Given the description of an element on the screen output the (x, y) to click on. 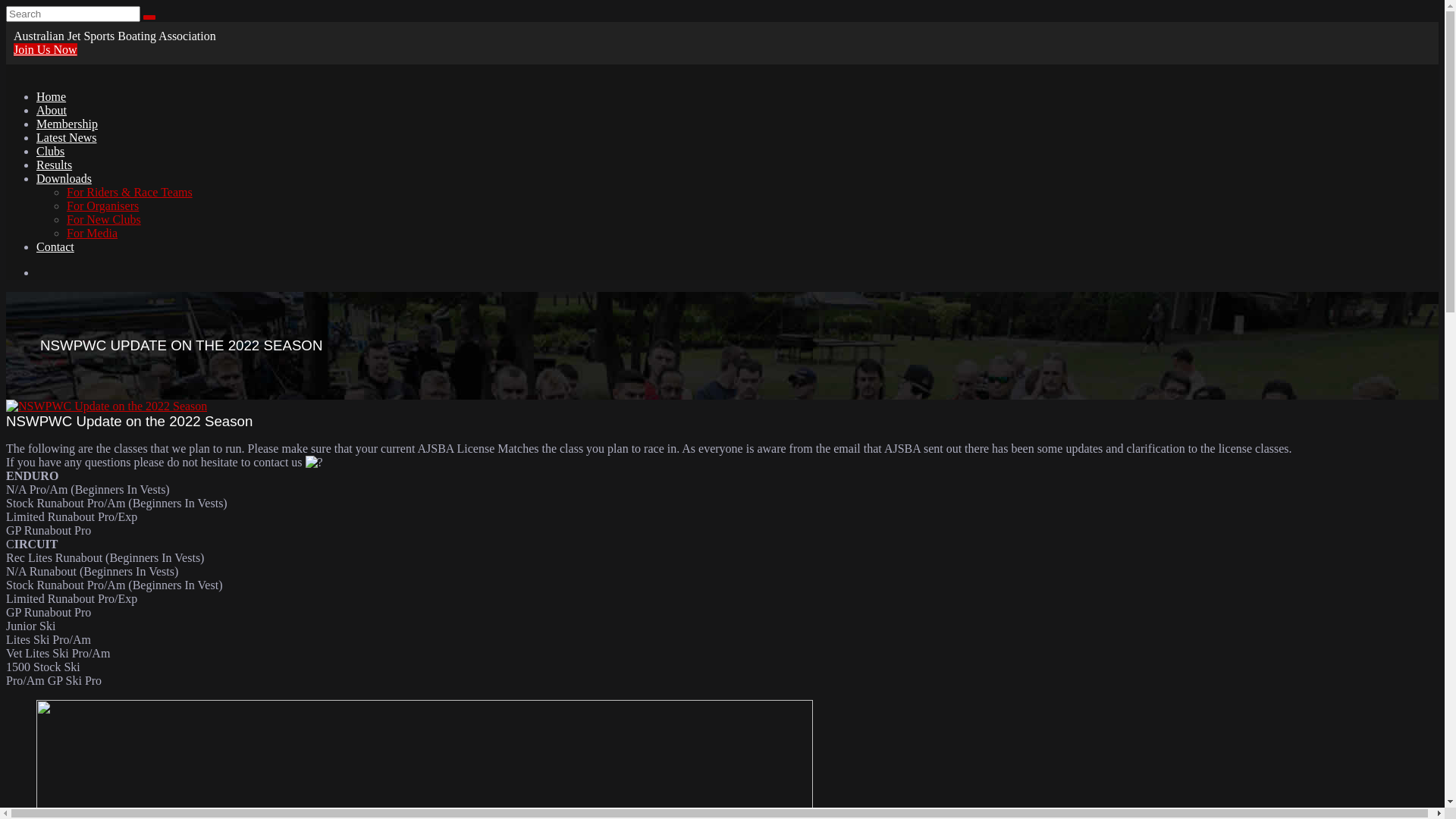
Home Element type: text (50, 96)
About Element type: text (51, 109)
Join Us Now Element type: text (45, 49)
For Organisers Element type: text (102, 205)
Results Element type: text (54, 164)
Latest News Element type: text (66, 137)
Clubs Element type: text (50, 150)
Downloads Element type: text (63, 178)
Membership Element type: text (66, 123)
For New Clubs Element type: text (103, 219)
Contact Element type: text (55, 246)
For Riders & Race Teams Element type: text (129, 191)
For Media Element type: text (91, 232)
